Given the description of an element on the screen output the (x, y) to click on. 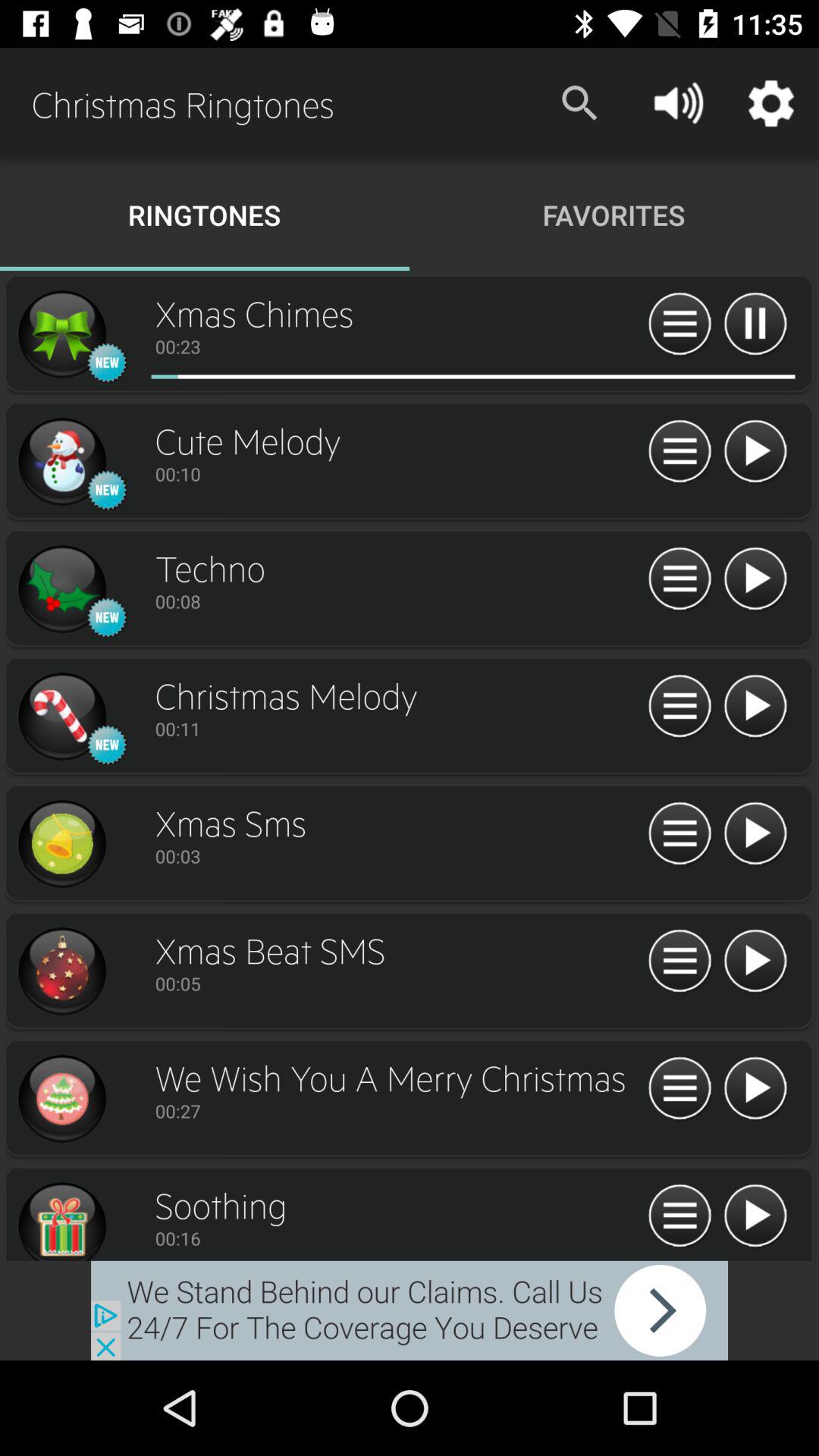
play button (755, 961)
